Given the description of an element on the screen output the (x, y) to click on. 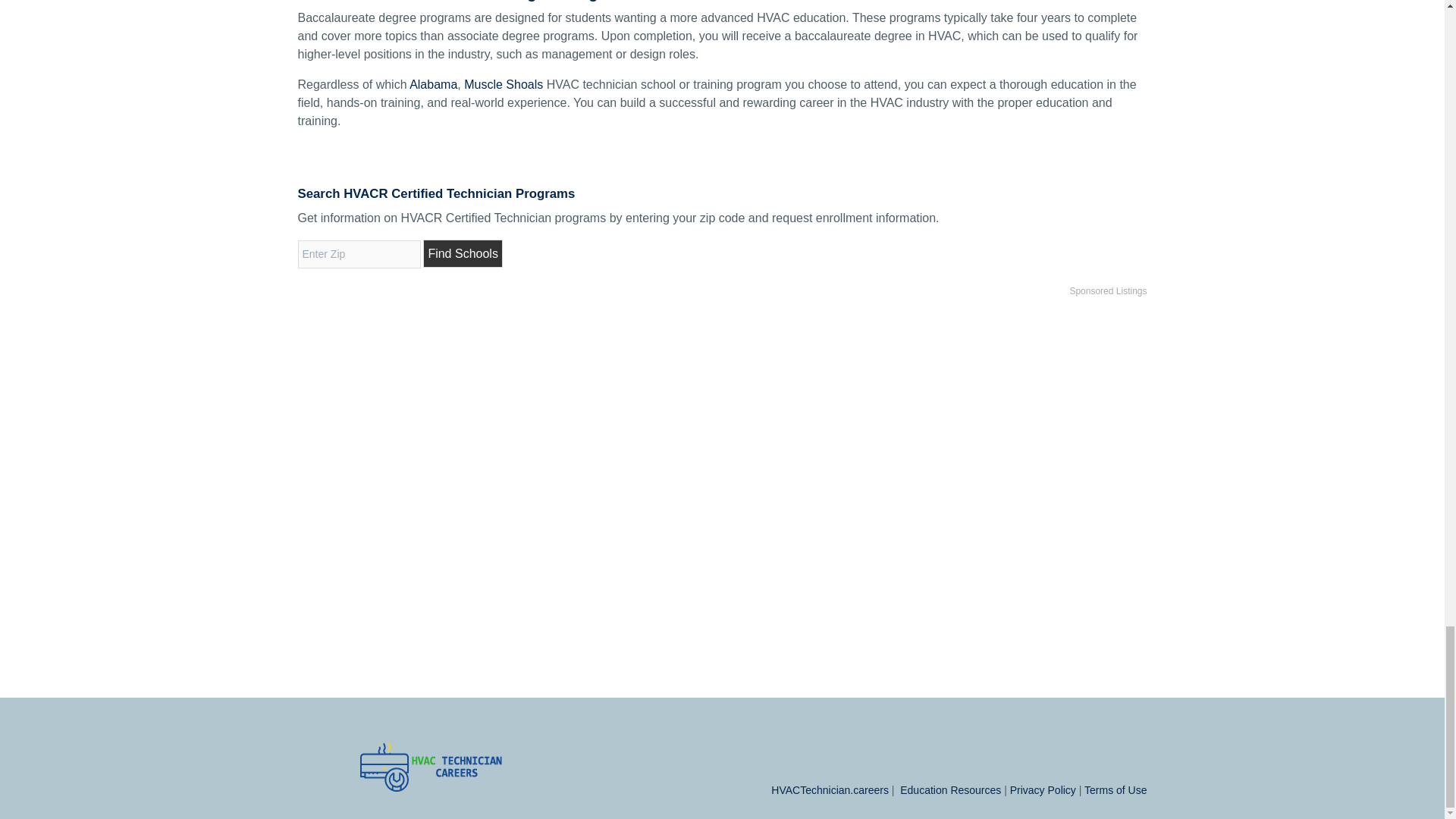
Muscle Shoals (503, 83)
Find Schools (462, 253)
Find Schools (462, 253)
Alabama (433, 83)
